Given the description of an element on the screen output the (x, y) to click on. 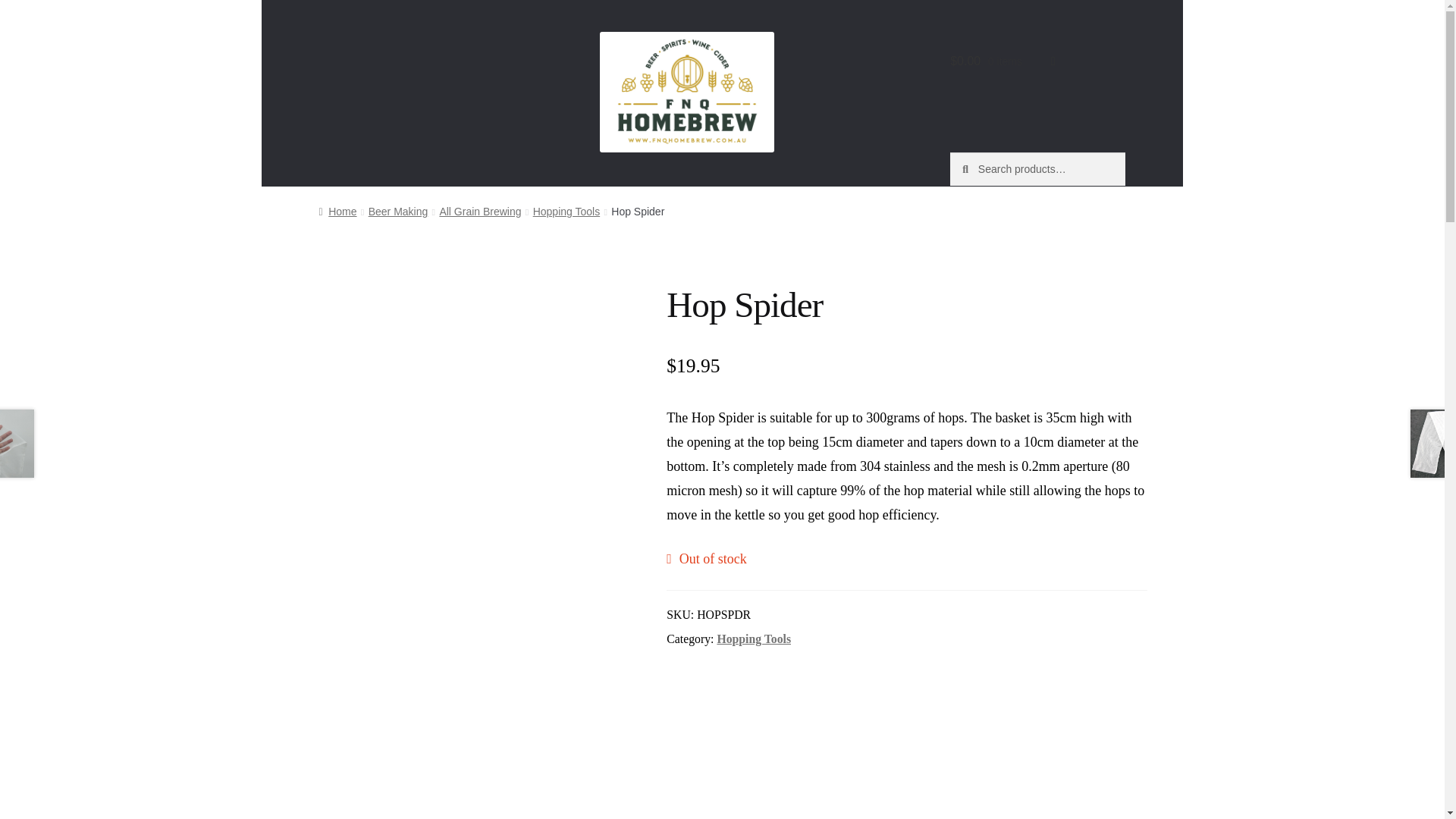
View your shopping cart (1002, 60)
Beer Making (398, 211)
Hopping Tools (565, 211)
Hopping Tools (753, 638)
Home (337, 211)
All Grain Brewing (480, 211)
